Given the description of an element on the screen output the (x, y) to click on. 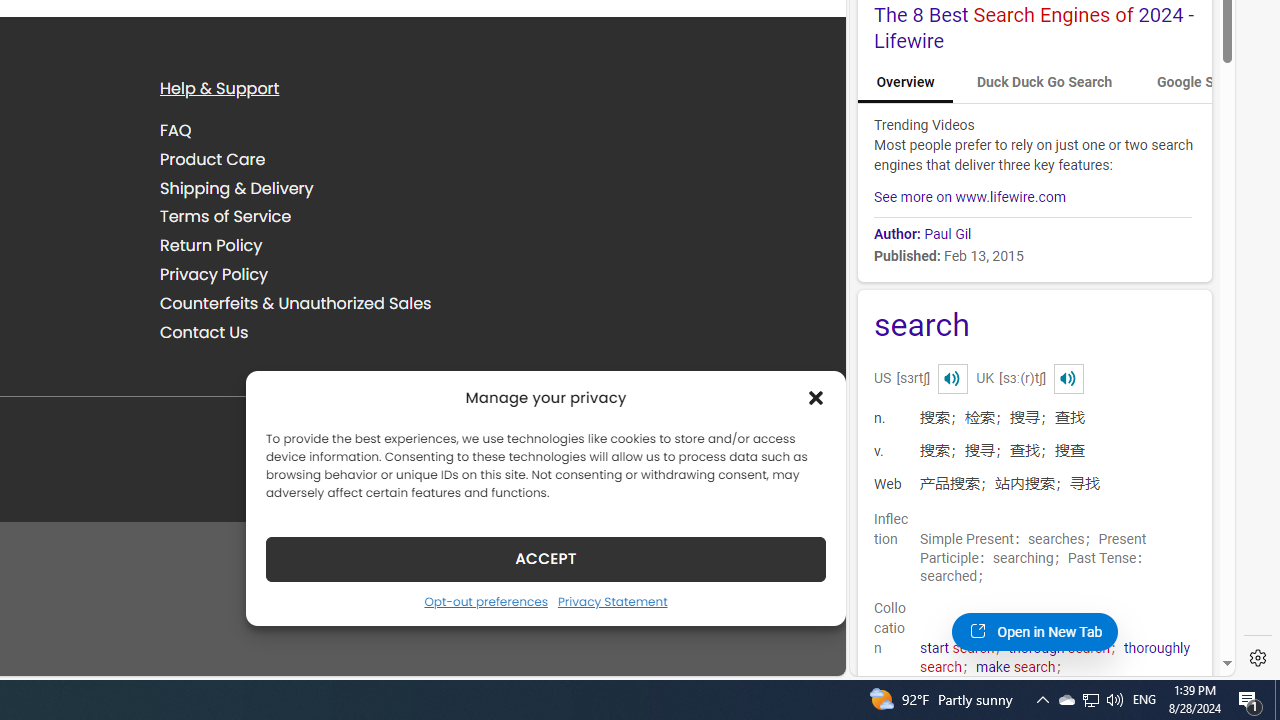
FAQ (176, 130)
Privacy Policy (214, 273)
Shipping & Delivery (236, 187)
Author: Paul Gil (922, 234)
Shipping & Delivery (325, 188)
Return Policy (325, 246)
FAQ (325, 131)
Opt-out preferences (485, 601)
Overview (905, 82)
See more on www.lifewire.com (970, 196)
Settings (1258, 658)
